Given the description of an element on the screen output the (x, y) to click on. 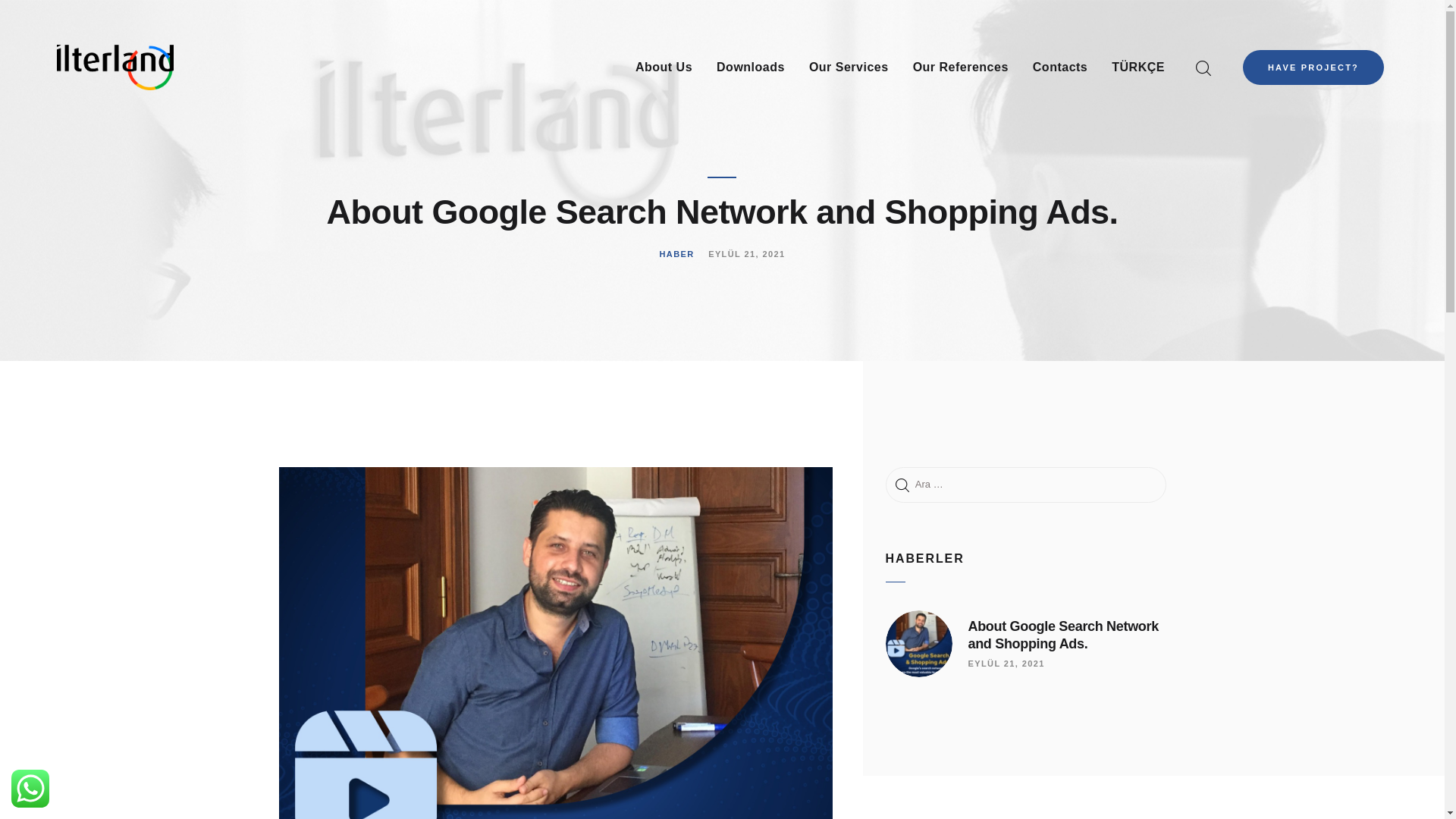
WhatsApp Image 2022-03-14 at 14.57.47 (918, 643)
Downloads (750, 66)
Our References (960, 66)
About Us (663, 66)
HABER (676, 253)
HAVE PROJECT? (1313, 67)
Contacts (1059, 66)
Our Services (848, 66)
